Given the description of an element on the screen output the (x, y) to click on. 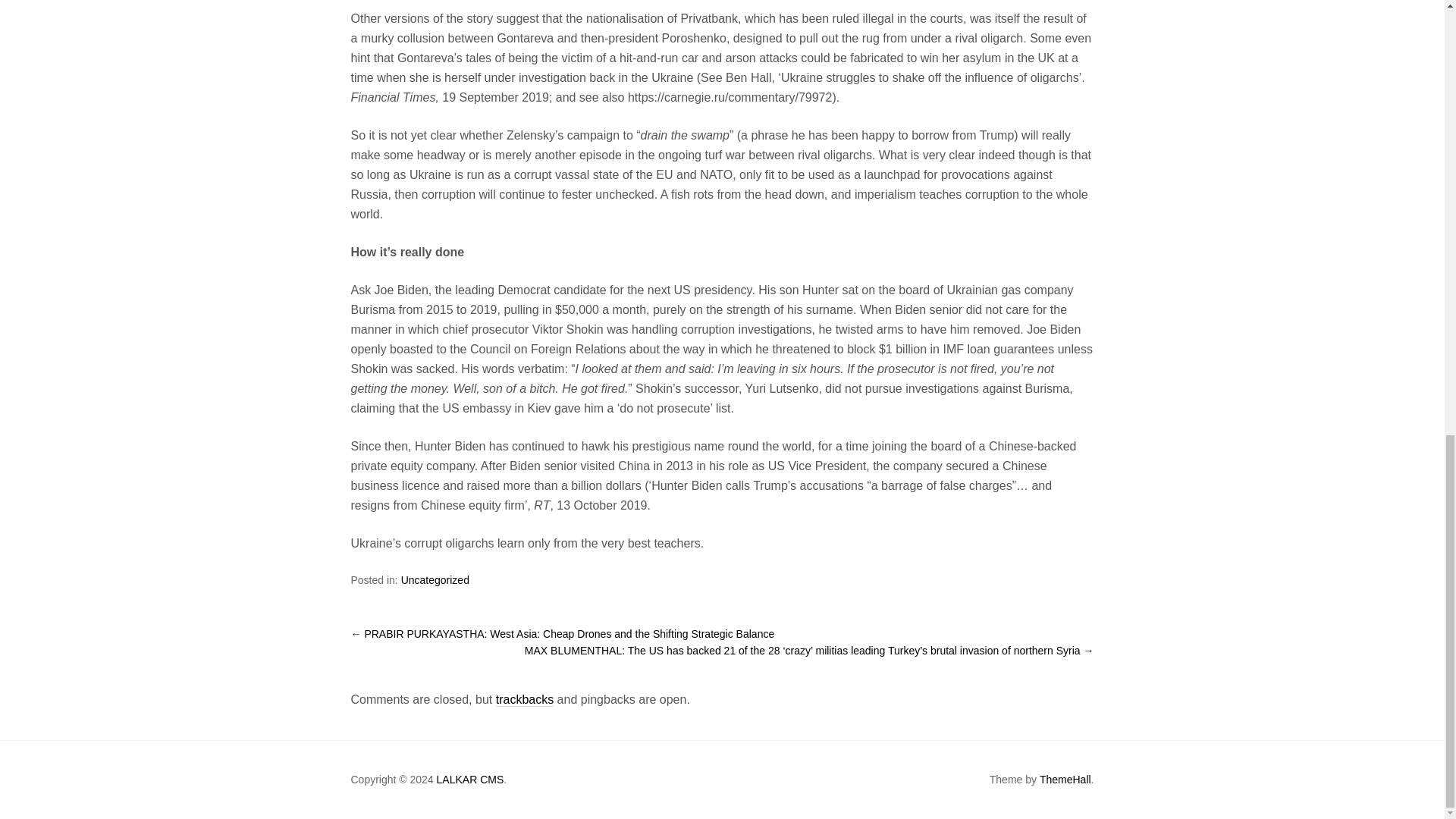
ThemeHall (1064, 779)
LALKAR CMS (469, 779)
trackbacks (524, 699)
Trackback URL for this post (524, 699)
ThemeHall (1064, 779)
Uncategorized (434, 579)
